Given the description of an element on the screen output the (x, y) to click on. 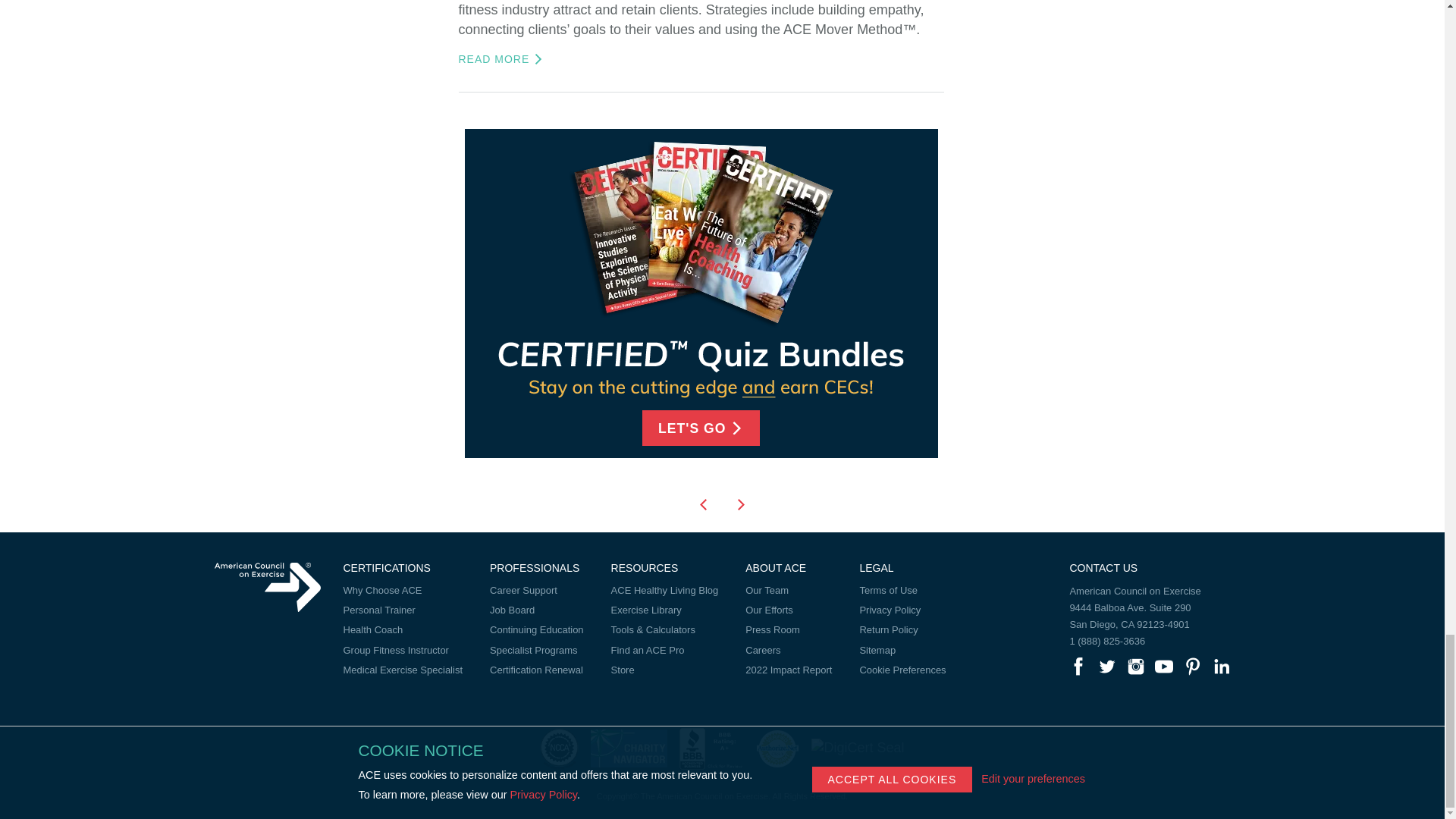
Click to verify BBB accreditation and to see a BBB report. (710, 747)
Charity Navigator Logo (628, 747)
